Given the description of an element on the screen output the (x, y) to click on. 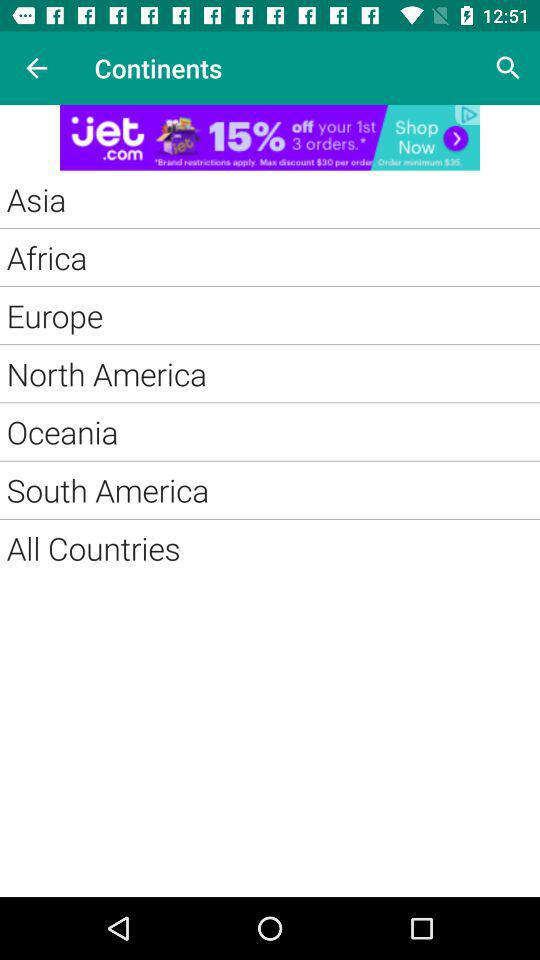
adding advertisement (270, 137)
